Given the description of an element on the screen output the (x, y) to click on. 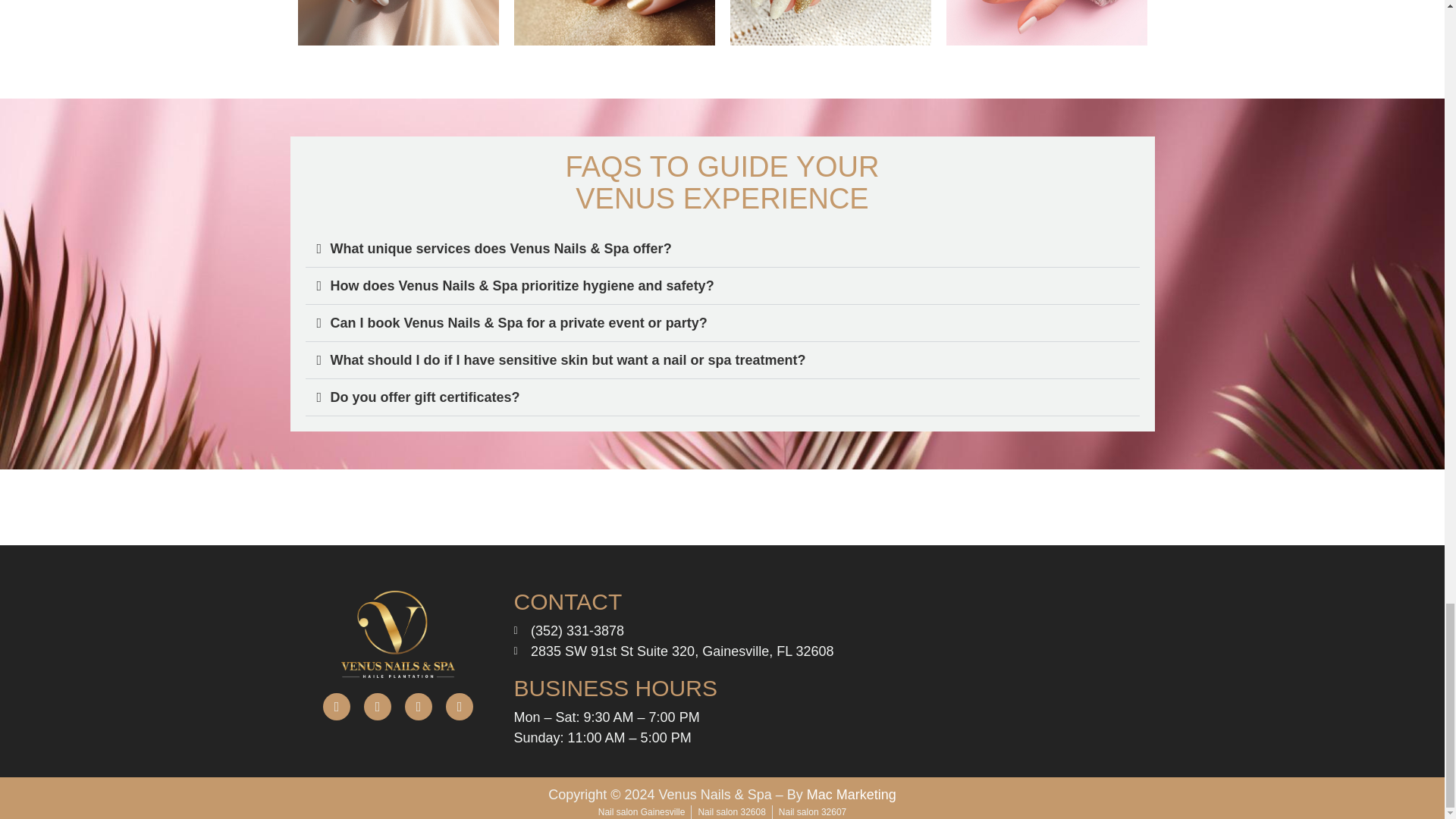
2835 SW 91st St Suite 320, Gainesville, FL 32608 (673, 651)
Mac Marketing (851, 794)
Do you offer gift certificates? (424, 396)
